Given the description of an element on the screen output the (x, y) to click on. 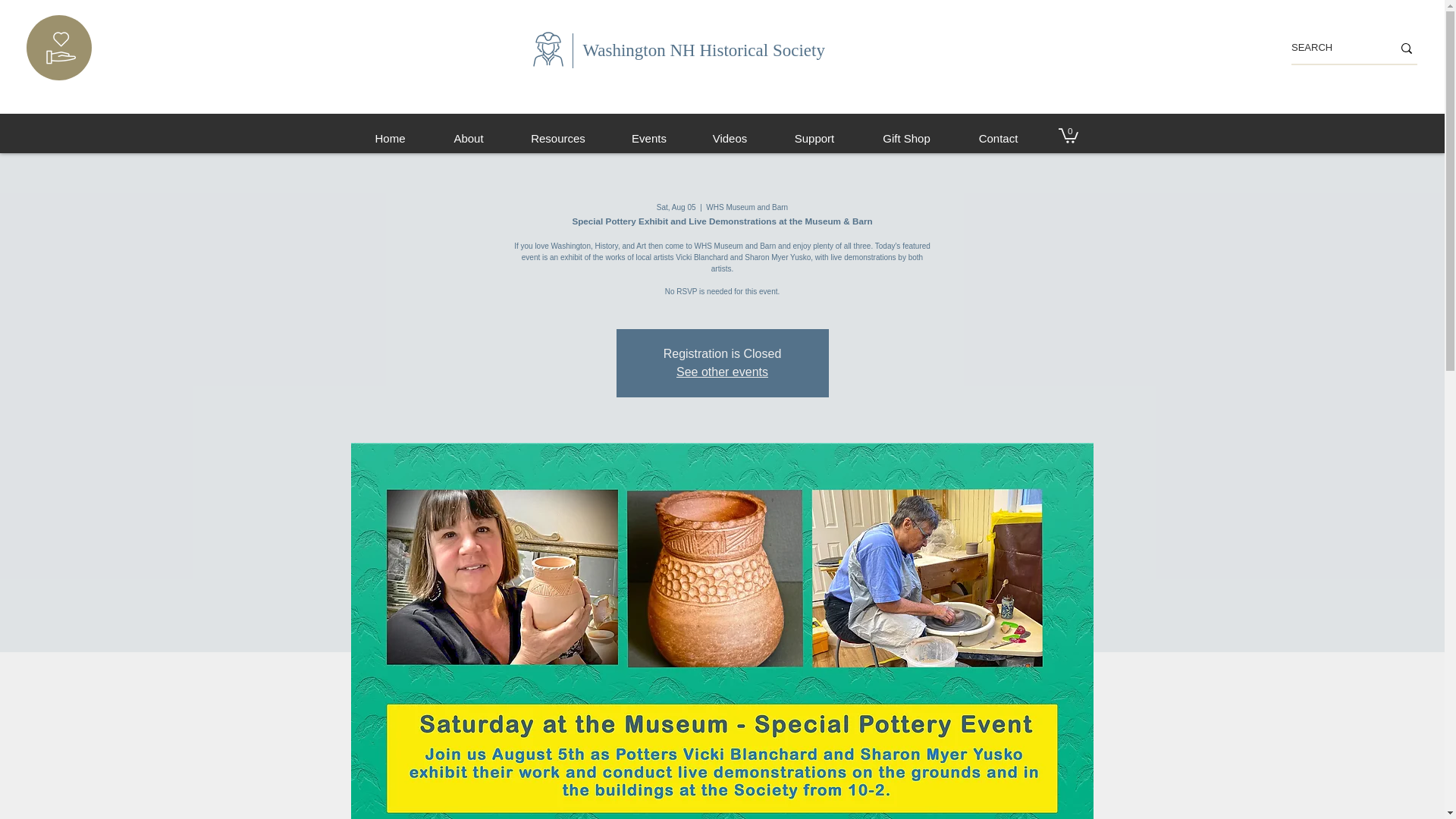
Videos (730, 138)
0 (1068, 134)
See other events (722, 371)
Home (389, 138)
Gift Shop (906, 138)
0 (1068, 134)
Events (648, 138)
Contact (997, 138)
Support (814, 138)
Resources (558, 138)
